Given the description of an element on the screen output the (x, y) to click on. 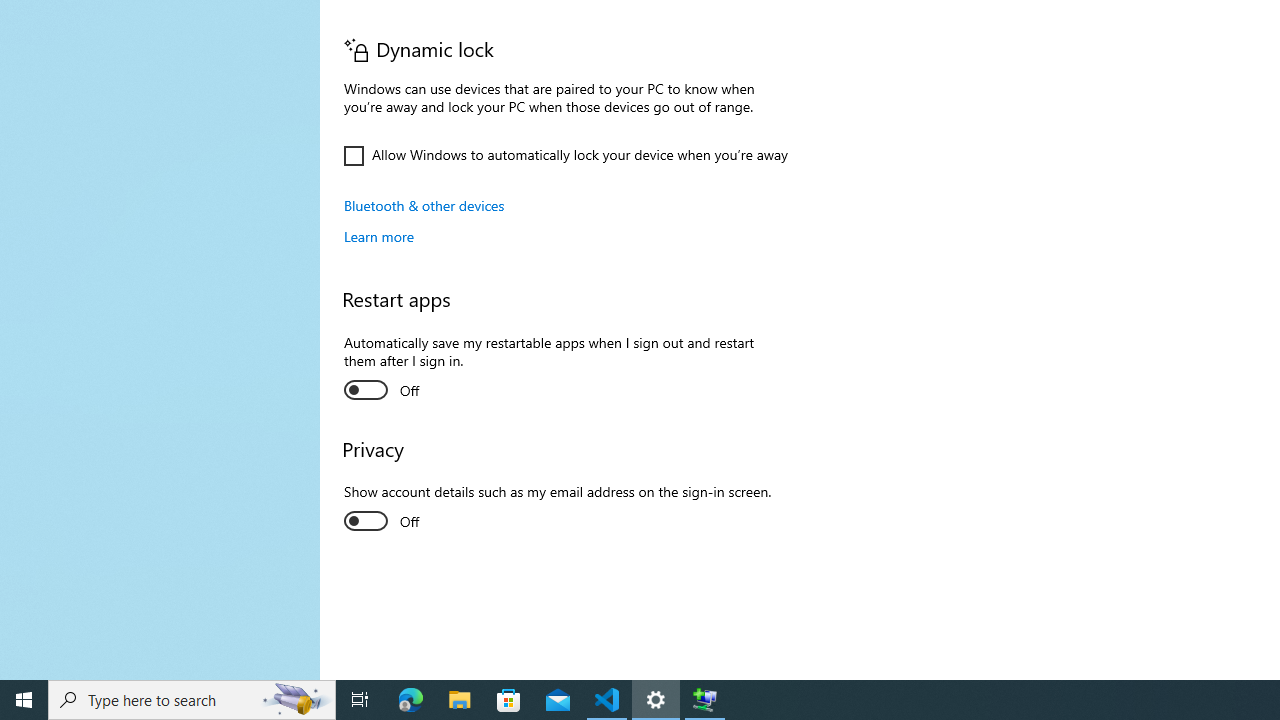
Settings - 1 running window (656, 699)
Learn more (379, 236)
Bluetooth & other devices (424, 205)
Extensible Wizards Host Process - 1 running window (704, 699)
